Given the description of an element on the screen output the (x, y) to click on. 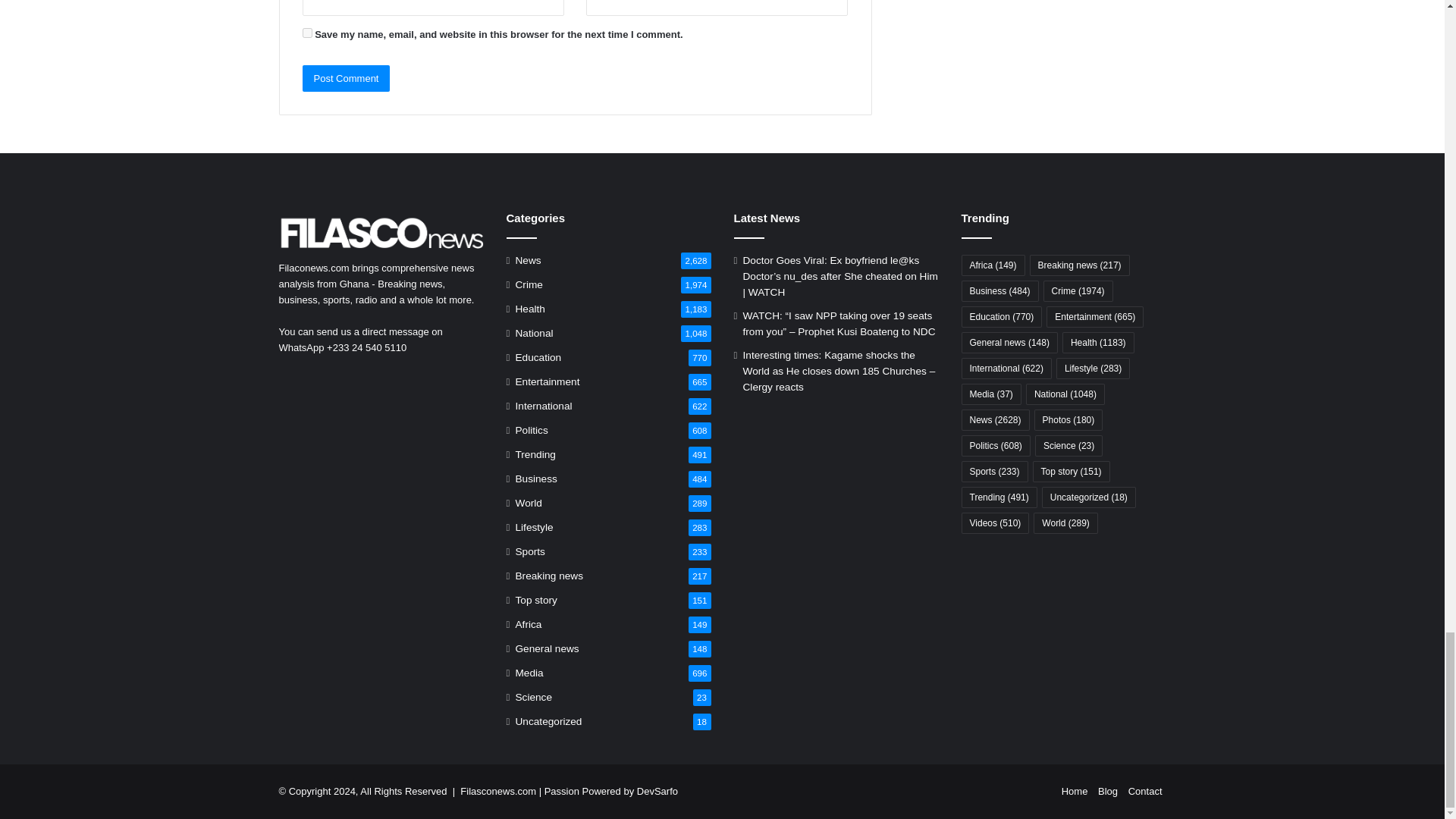
Post Comment (345, 78)
yes (306, 32)
